Given the description of an element on the screen output the (x, y) to click on. 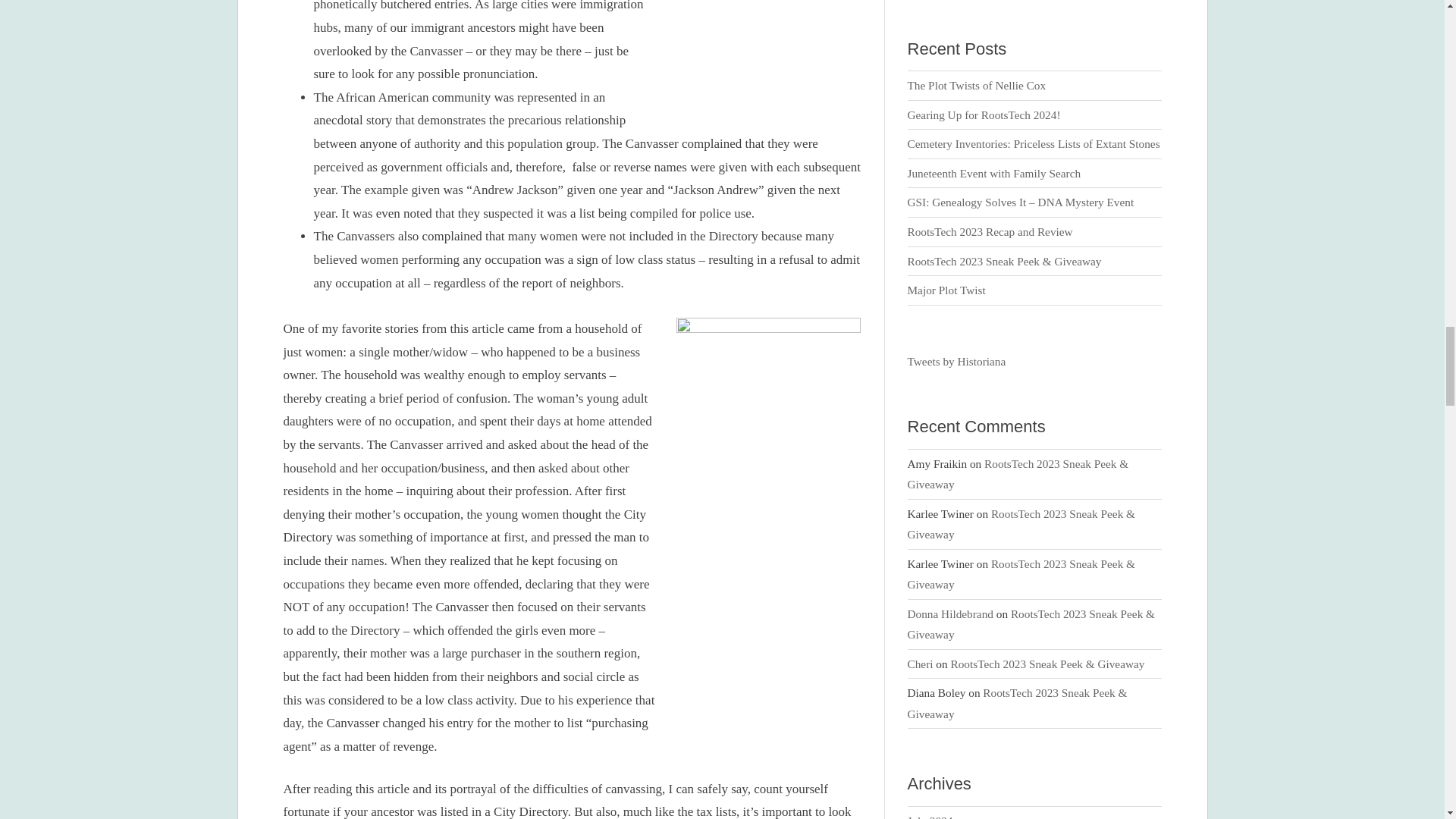
Gearing Up for RootsTech 2024! (984, 114)
Cemetery Inventories: Priceless Lists of Extant Stones (1033, 143)
Juneteenth Event with Family Search (994, 173)
The Plot Twists of Nellie Cox (976, 84)
RootsTech 2023 Recap and Review (990, 231)
